Given the description of an element on the screen output the (x, y) to click on. 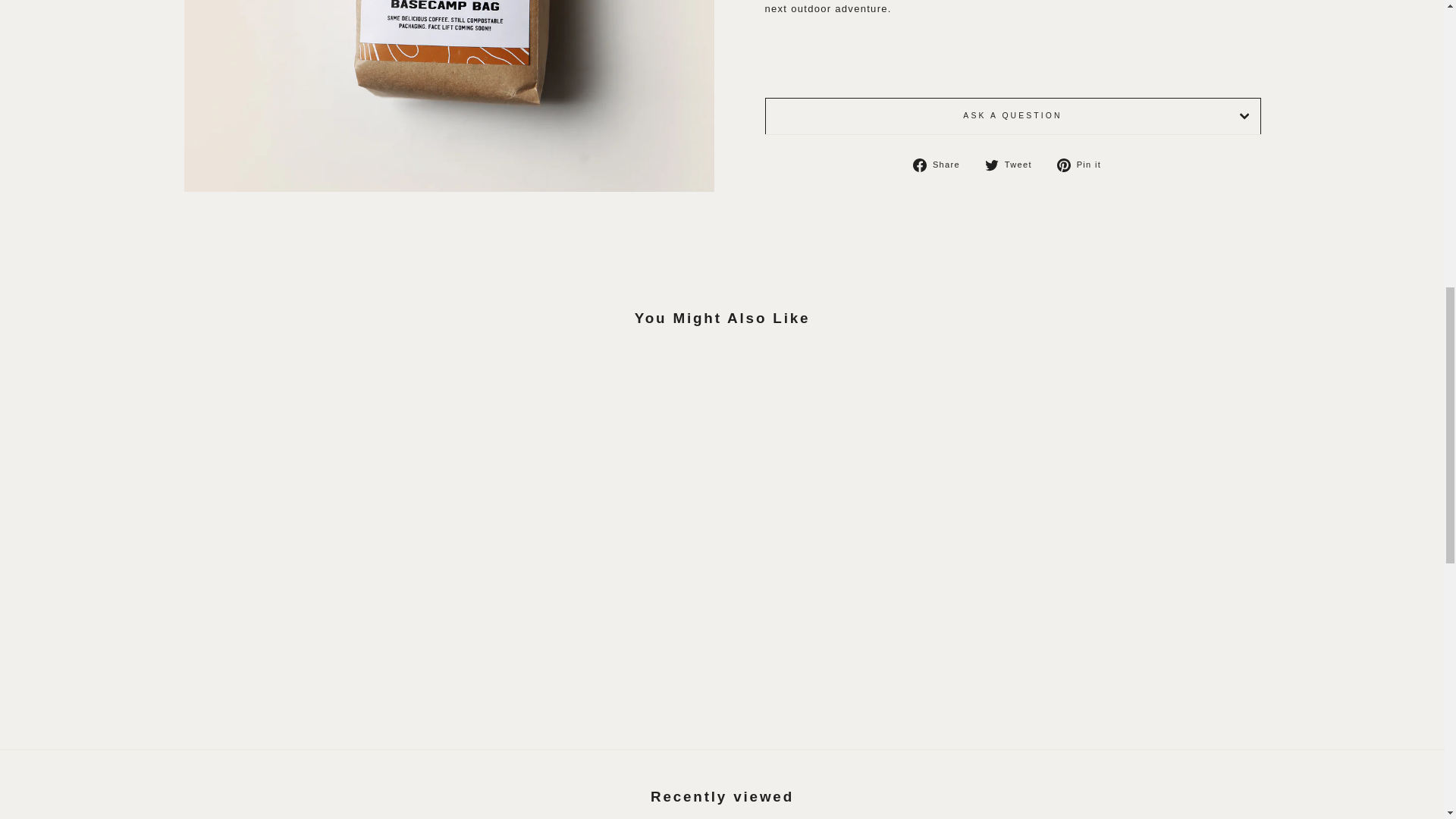
Share on Facebook (941, 165)
Tweet on Twitter (1014, 165)
Pin on Pinterest (1084, 165)
